Given the description of an element on the screen output the (x, y) to click on. 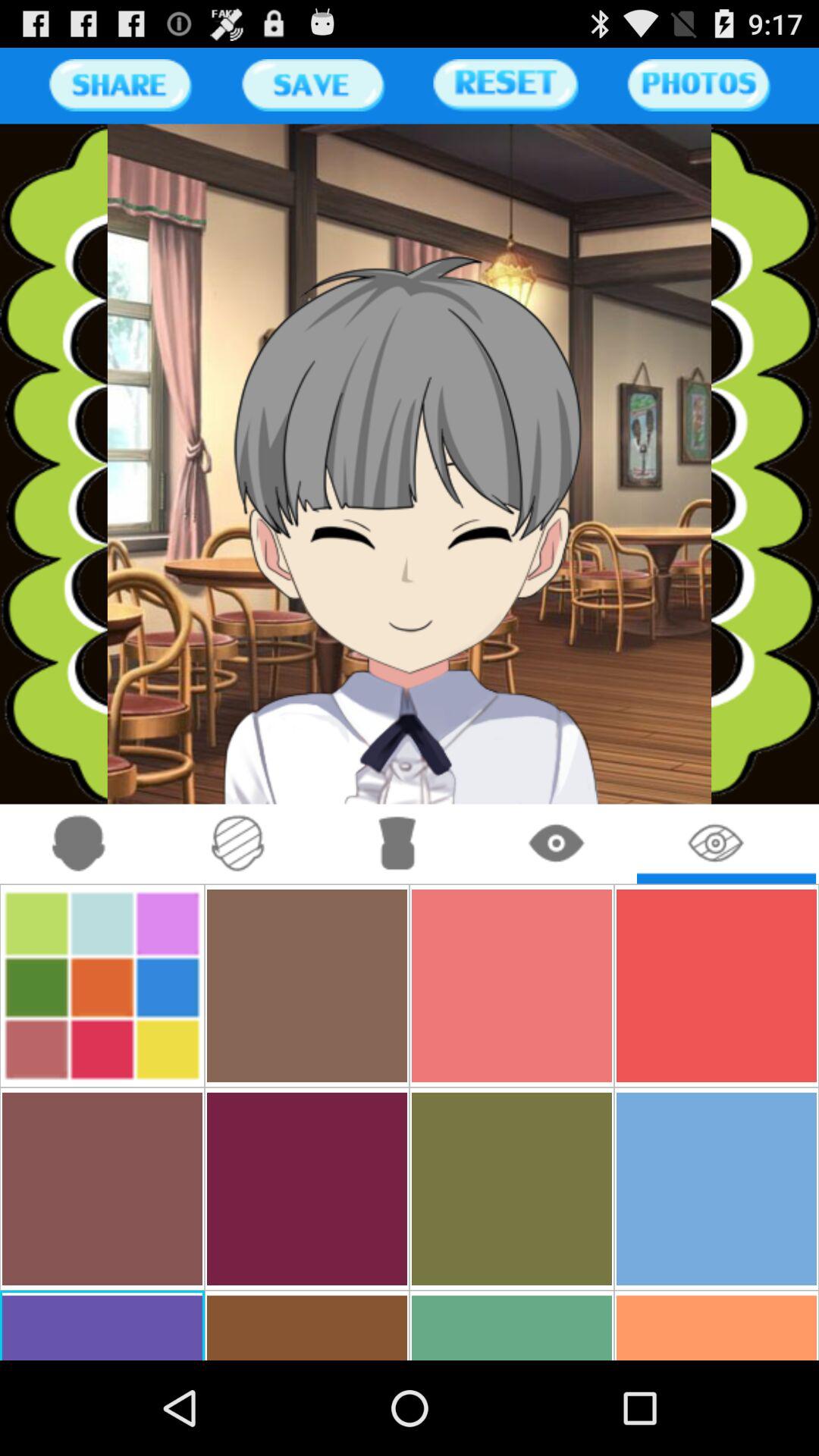
click to share (119, 85)
